Given the description of an element on the screen output the (x, y) to click on. 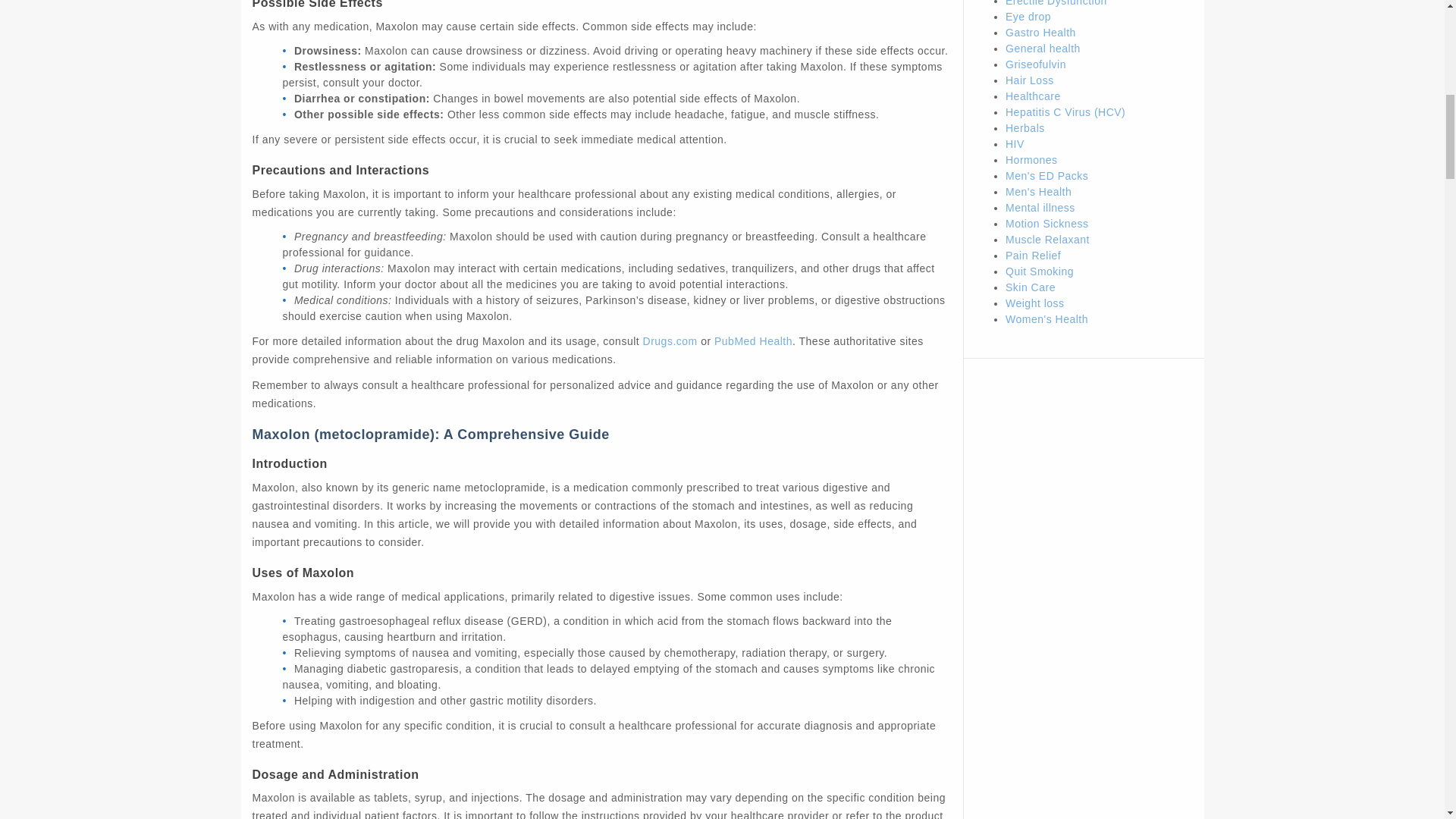
PubMed Health (753, 340)
Drugs.com (670, 340)
